Given the description of an element on the screen output the (x, y) to click on. 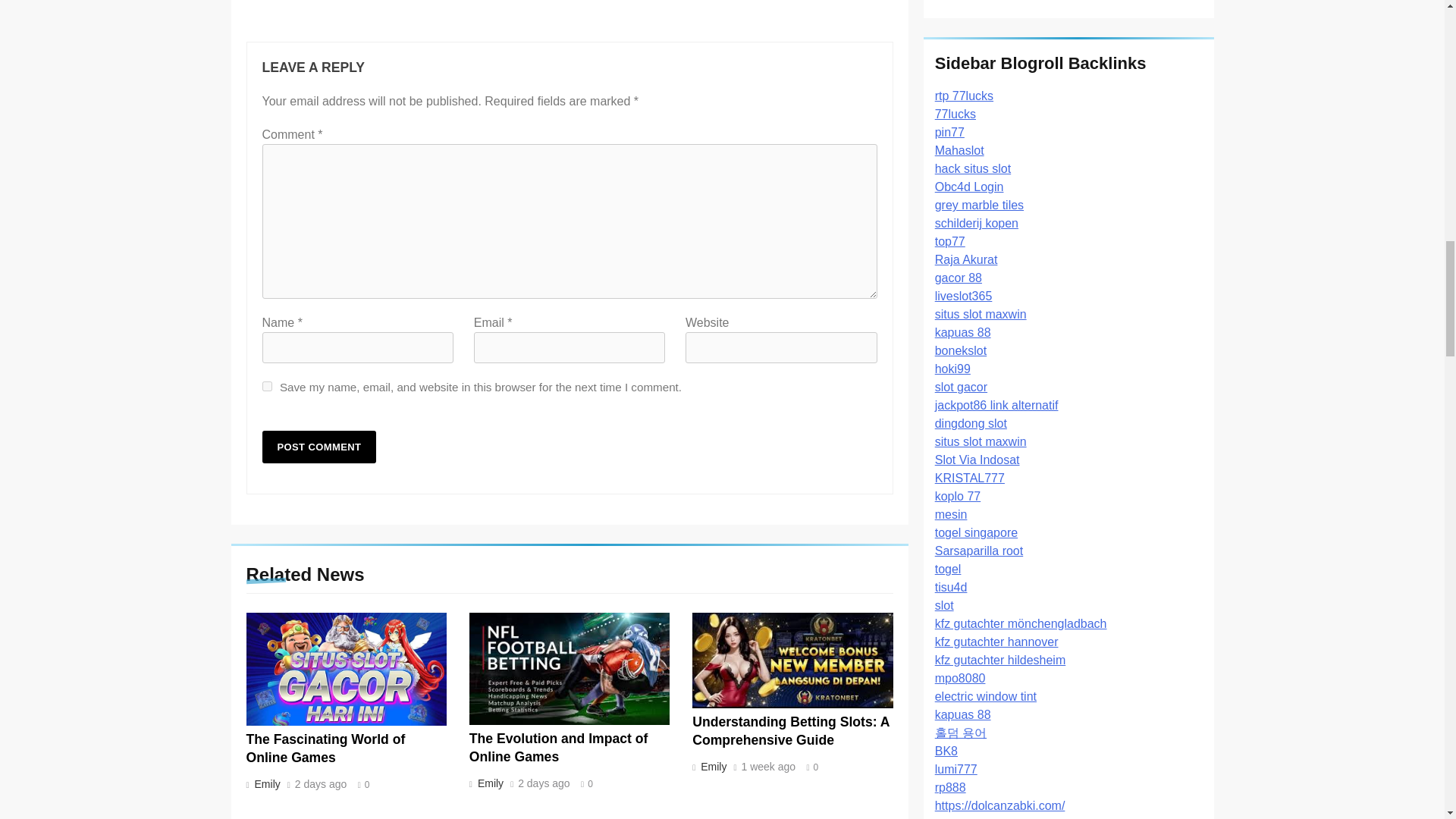
Emily (265, 784)
2 days ago (544, 783)
The Fascinating World of Online Games (325, 748)
Post Comment (319, 446)
Understanding Betting Slots: A Comprehensive Guide (791, 730)
1 week ago (768, 767)
Post Comment (319, 446)
Emily (488, 783)
The Evolution and Impact of Online Games (557, 747)
2 days ago (321, 784)
